Given the description of an element on the screen output the (x, y) to click on. 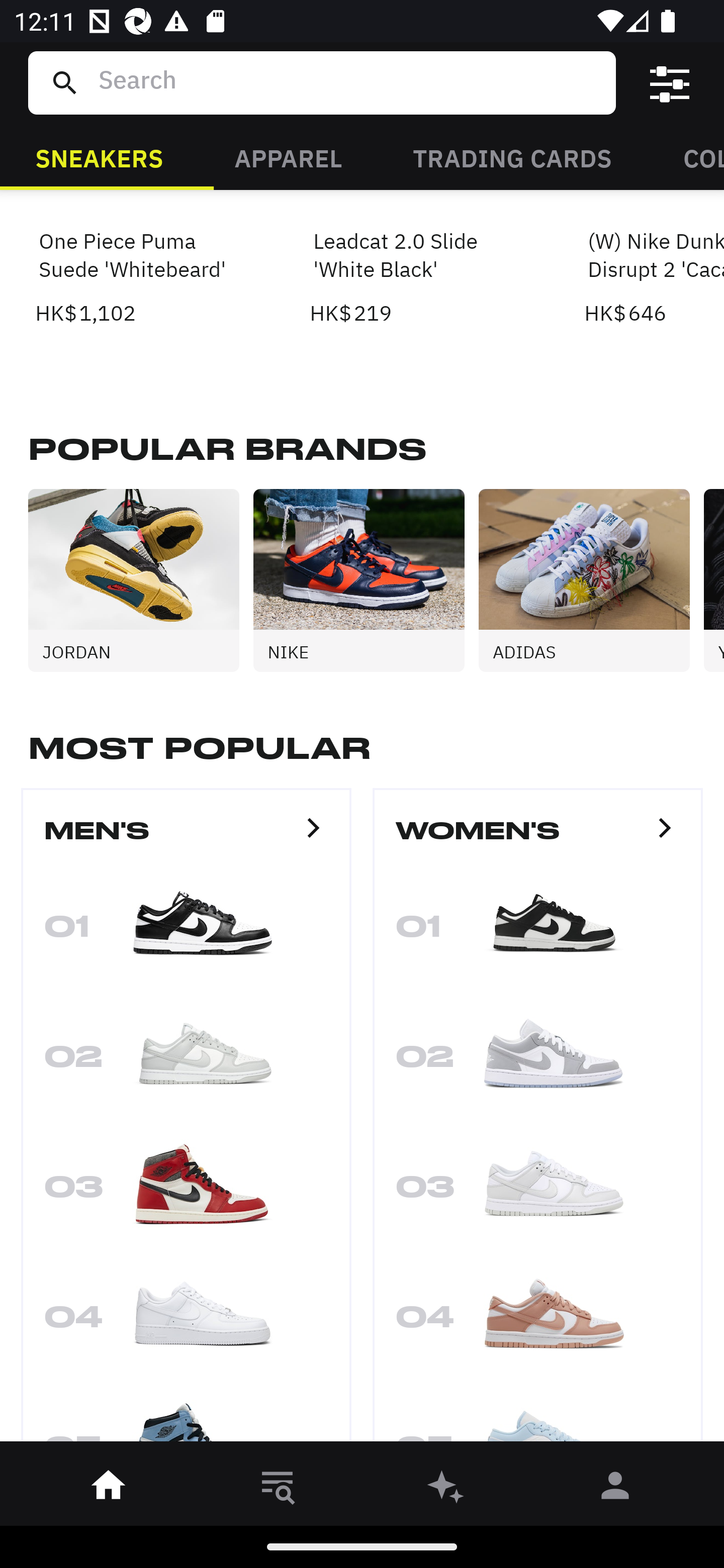
Search (349, 82)
 (669, 82)
SNEAKERS (99, 156)
APPAREL (287, 156)
TRADING CARDS (512, 156)
One Piece Puma Suede 'Whitebeard' HK$ 1,102 (140, 259)
Leadcat 2.0 Slide 'White Black' HK$ 219 (414, 259)
JORDAN (140, 580)
NIKE (365, 580)
ADIDAS (590, 580)
MEN'S  (186, 838)
WOMEN'S  (538, 838)
01 (186, 932)
01 (538, 932)
02 (186, 1062)
02 (538, 1062)
03 (186, 1192)
03 (538, 1192)
04 (186, 1322)
04 (538, 1322)
󰋜 (108, 1488)
󱎸 (277, 1488)
󰫢 (446, 1488)
󰀄 (615, 1488)
